Given the description of an element on the screen output the (x, y) to click on. 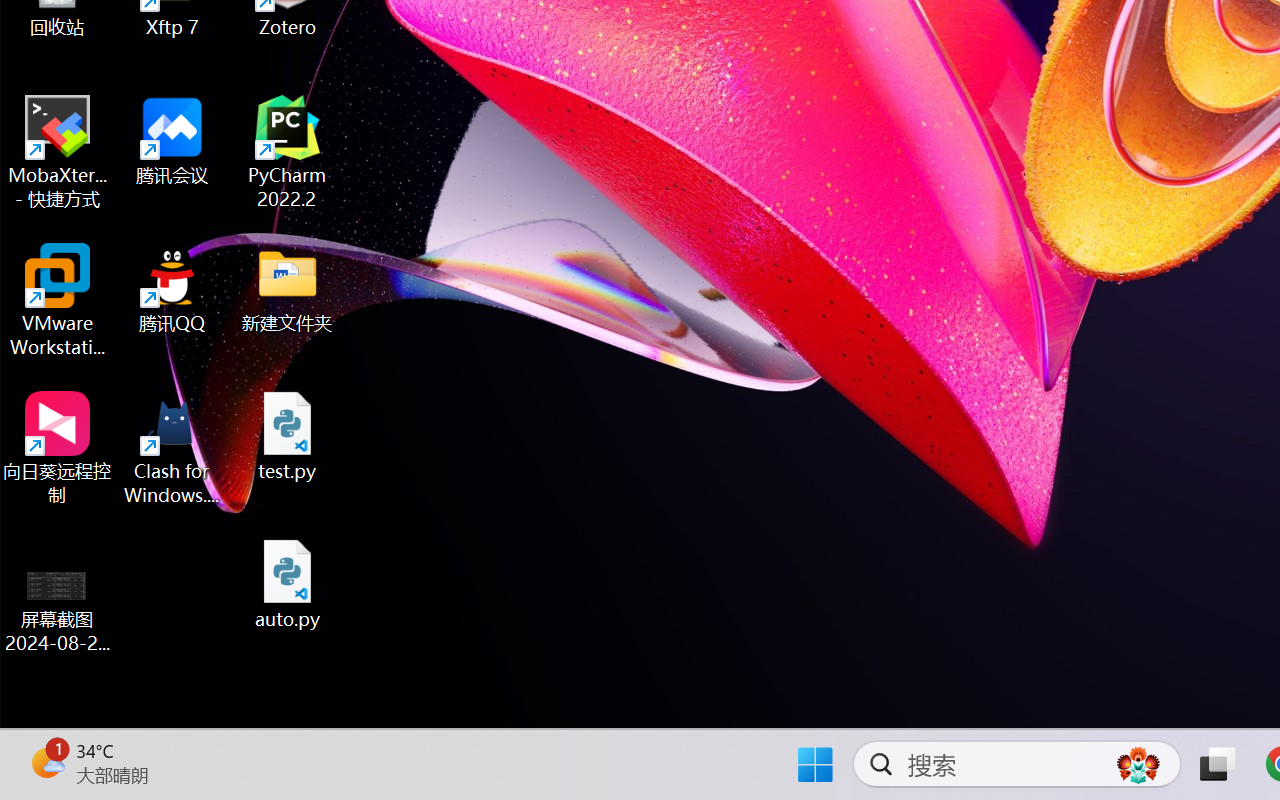
test.py (287, 436)
VMware Workstation Pro (57, 300)
auto.py (287, 584)
